Given the description of an element on the screen output the (x, y) to click on. 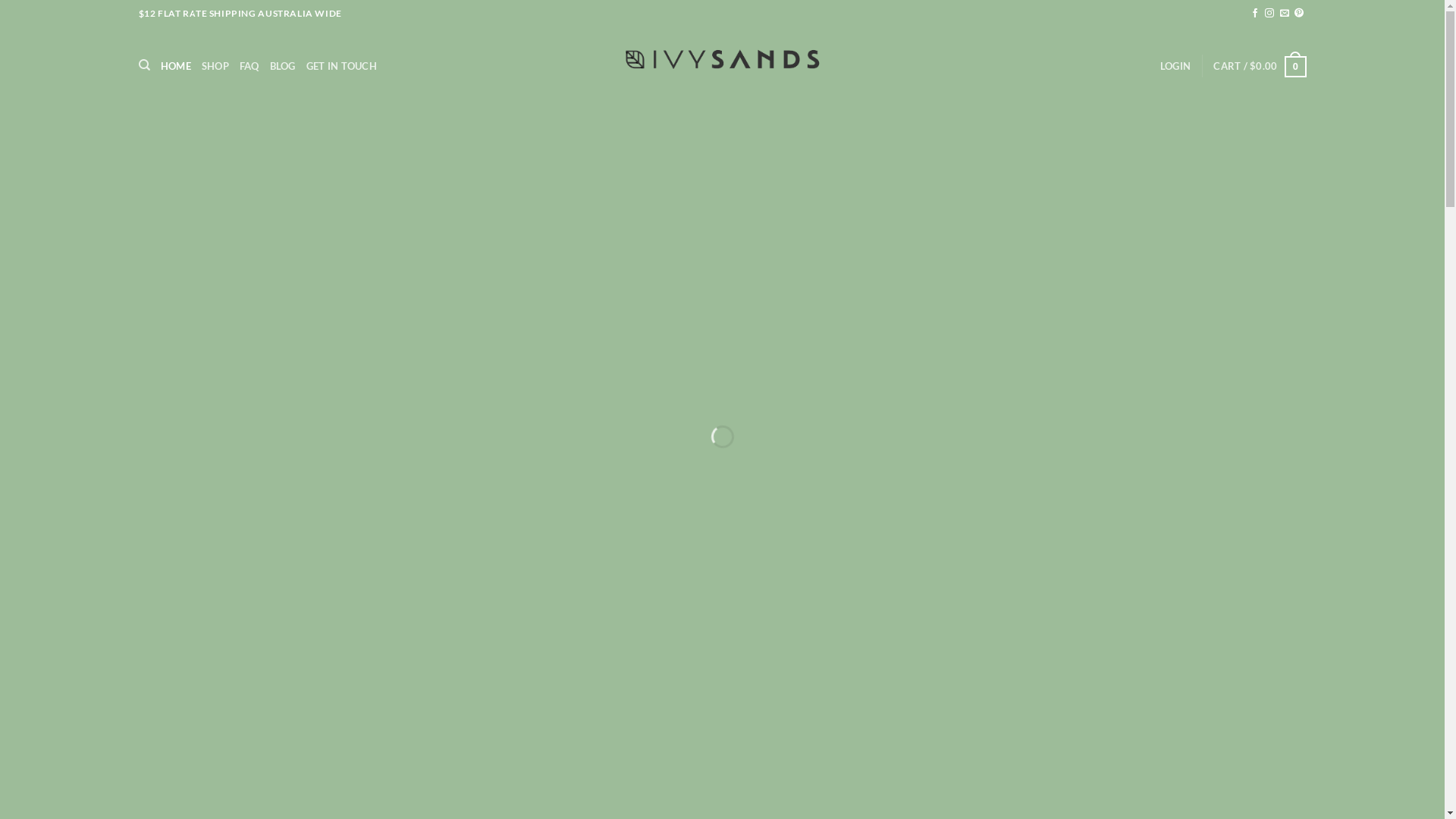
Follow on Pinterest Element type: hover (1298, 13)
LOGIN Element type: text (1175, 65)
Follow on Instagram Element type: hover (1269, 13)
Ivy Sands Element type: hover (721, 59)
HOME Element type: text (175, 65)
GET IN TOUCH Element type: text (341, 65)
Send us an email Element type: hover (1284, 13)
Follow on Facebook Element type: hover (1254, 13)
SHOP Element type: text (215, 65)
CART / $0.00
0 Element type: text (1259, 65)
BLOG Element type: text (282, 65)
FAQ Element type: text (249, 65)
